Given the description of an element on the screen output the (x, y) to click on. 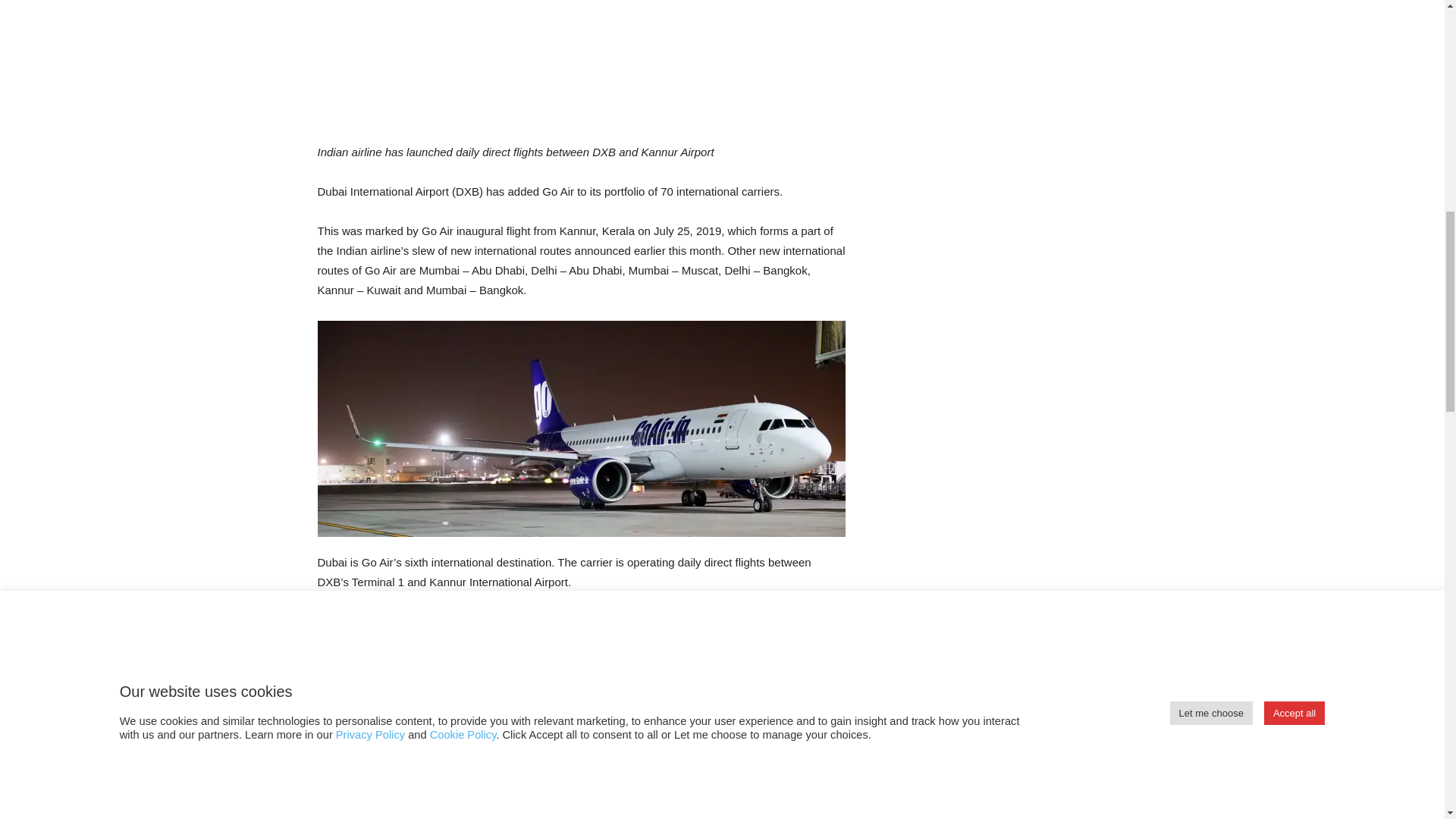
Advertisement (580, 71)
